Given the description of an element on the screen output the (x, y) to click on. 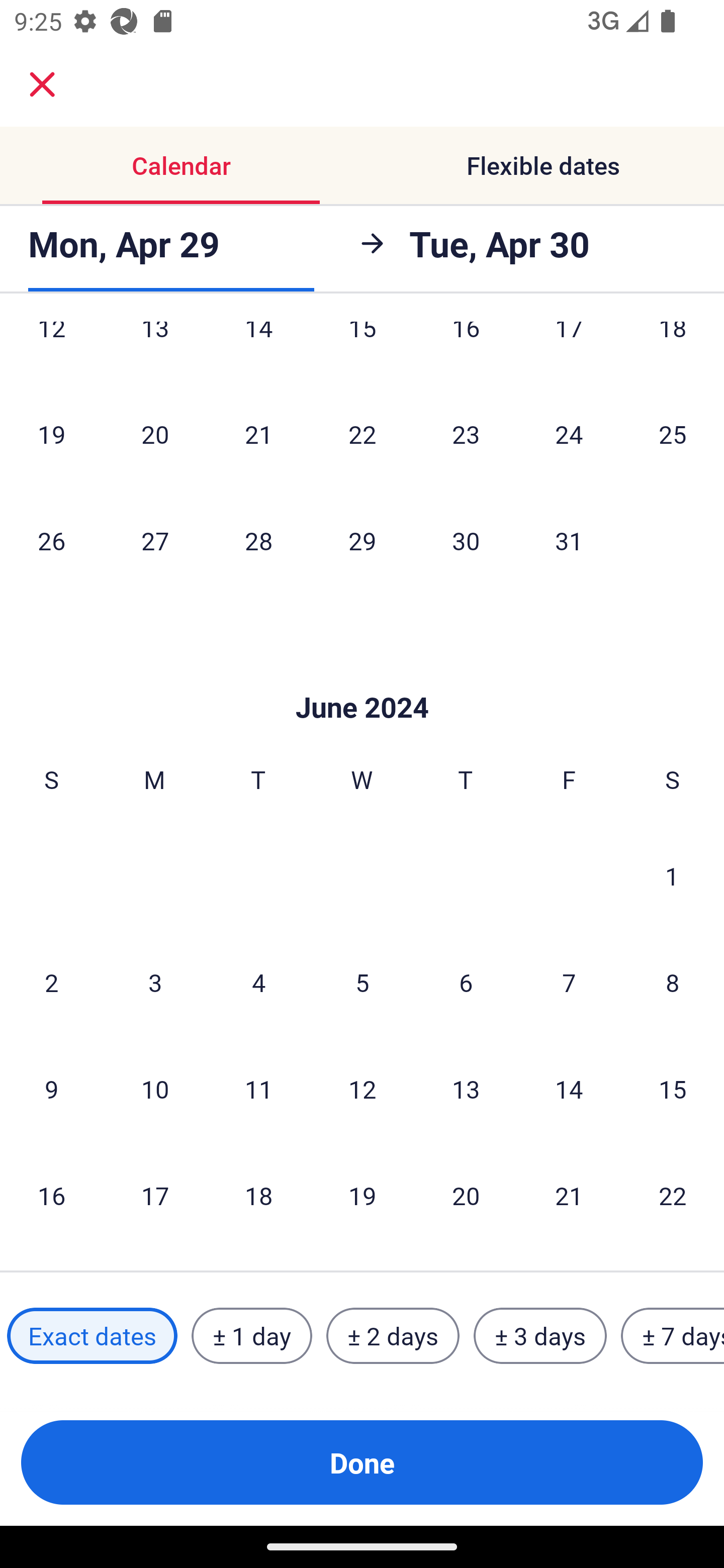
close. (42, 84)
Flexible dates (542, 164)
19 Sunday, May 19, 2024 (51, 434)
20 Monday, May 20, 2024 (155, 434)
21 Tuesday, May 21, 2024 (258, 434)
22 Wednesday, May 22, 2024 (362, 434)
23 Thursday, May 23, 2024 (465, 434)
24 Friday, May 24, 2024 (569, 434)
25 Saturday, May 25, 2024 (672, 434)
26 Sunday, May 26, 2024 (51, 540)
27 Monday, May 27, 2024 (155, 540)
28 Tuesday, May 28, 2024 (258, 540)
29 Wednesday, May 29, 2024 (362, 540)
30 Thursday, May 30, 2024 (465, 540)
31 Friday, May 31, 2024 (569, 540)
Skip to Done (362, 677)
1 Saturday, June 1, 2024 (672, 875)
2 Sunday, June 2, 2024 (51, 982)
3 Monday, June 3, 2024 (155, 982)
4 Tuesday, June 4, 2024 (258, 982)
5 Wednesday, June 5, 2024 (362, 982)
6 Thursday, June 6, 2024 (465, 982)
7 Friday, June 7, 2024 (569, 982)
8 Saturday, June 8, 2024 (672, 982)
9 Sunday, June 9, 2024 (51, 1088)
10 Monday, June 10, 2024 (155, 1088)
11 Tuesday, June 11, 2024 (258, 1088)
12 Wednesday, June 12, 2024 (362, 1088)
13 Thursday, June 13, 2024 (465, 1088)
14 Friday, June 14, 2024 (569, 1088)
15 Saturday, June 15, 2024 (672, 1088)
16 Sunday, June 16, 2024 (51, 1194)
17 Monday, June 17, 2024 (155, 1194)
18 Tuesday, June 18, 2024 (258, 1194)
19 Wednesday, June 19, 2024 (362, 1194)
20 Thursday, June 20, 2024 (465, 1194)
21 Friday, June 21, 2024 (569, 1194)
22 Saturday, June 22, 2024 (672, 1194)
Exact dates (92, 1335)
± 1 day (251, 1335)
± 2 days (392, 1335)
± 3 days (539, 1335)
± 7 days (672, 1335)
Done (361, 1462)
